Given the description of an element on the screen output the (x, y) to click on. 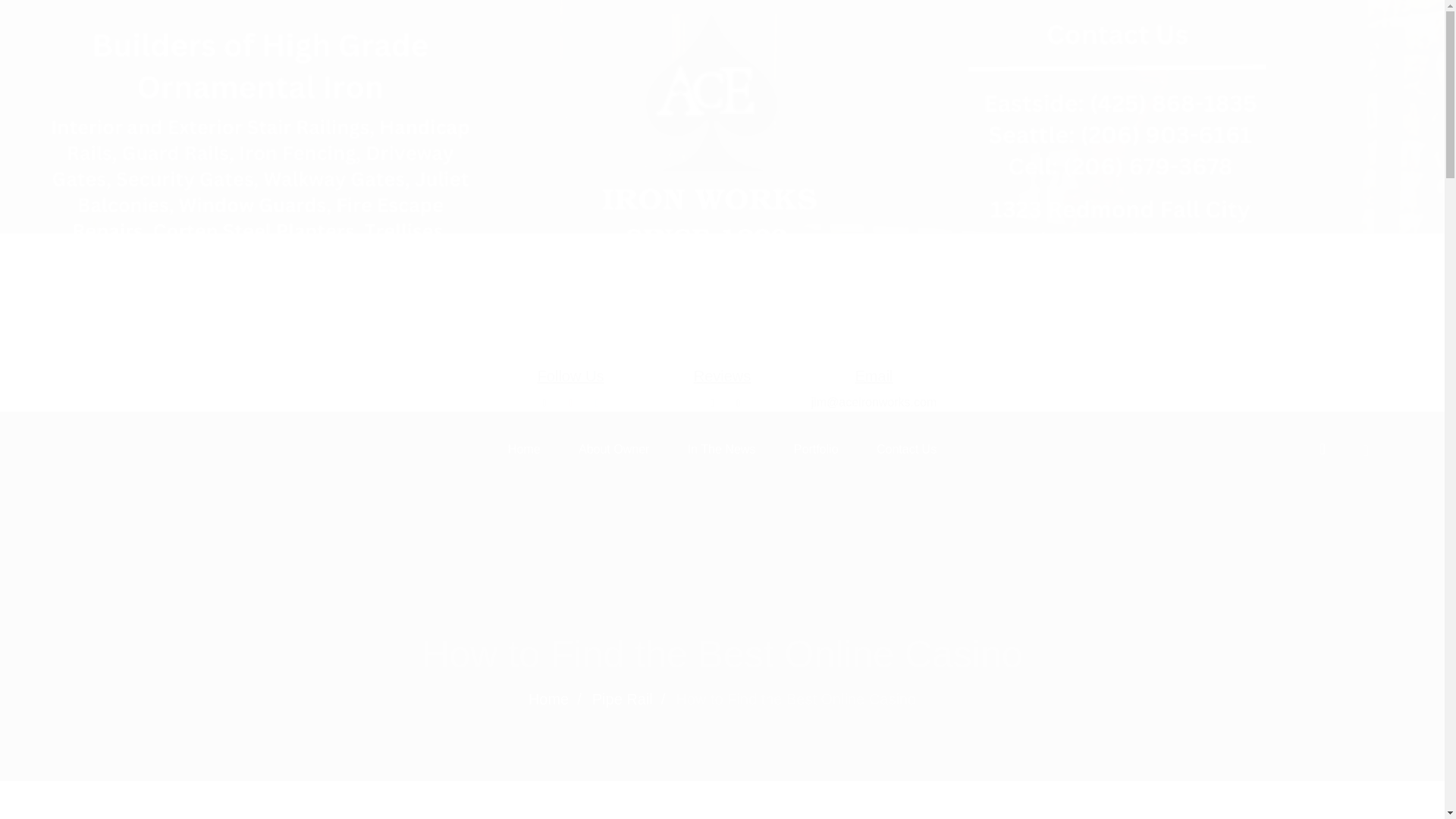
Home (548, 699)
About Owner (613, 449)
In The News (721, 449)
Pipe Rail (622, 699)
